Given the description of an element on the screen output the (x, y) to click on. 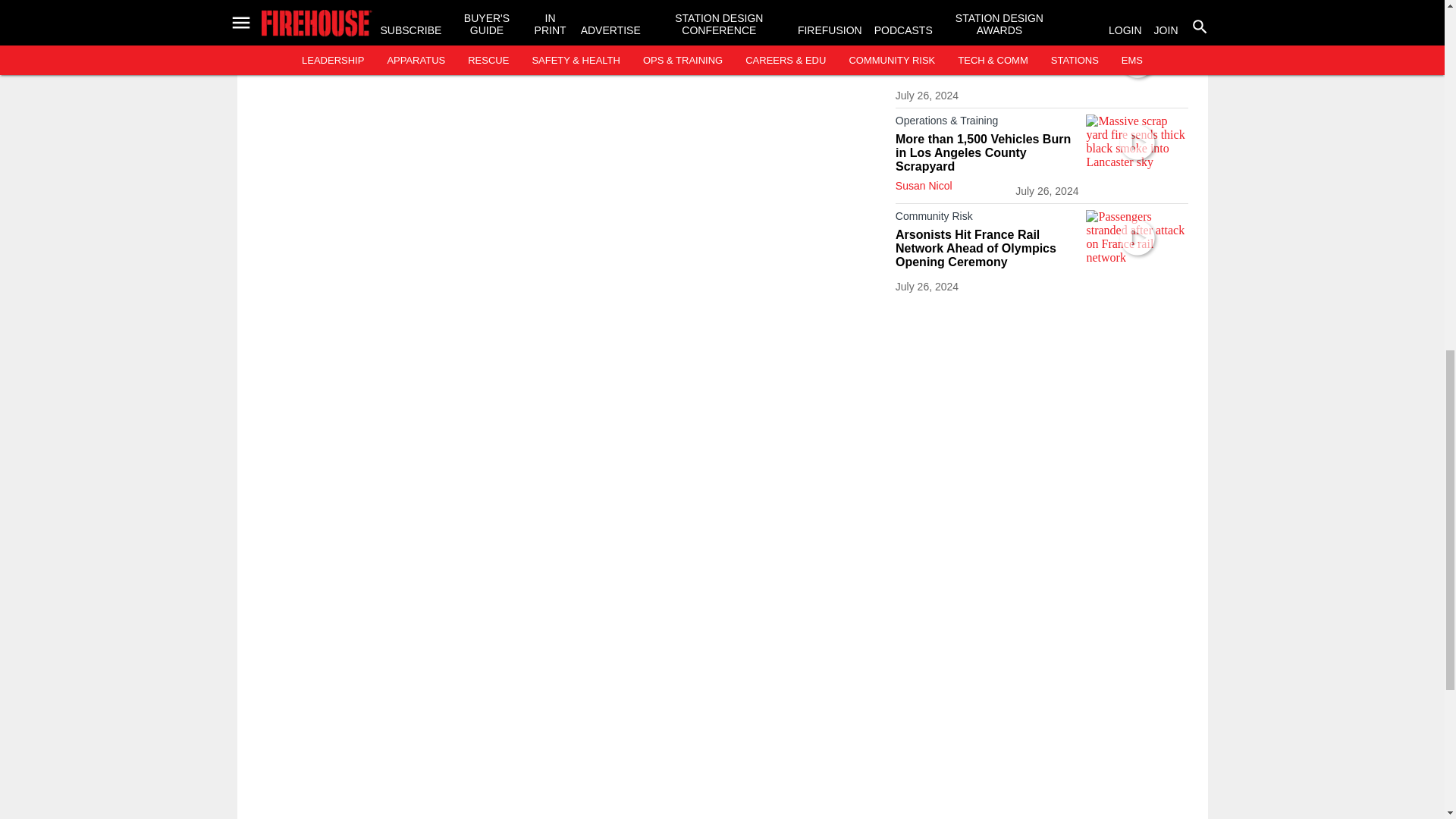
Passengers stranded after attack on France rail network (1137, 237)
